Given the description of an element on the screen output the (x, y) to click on. 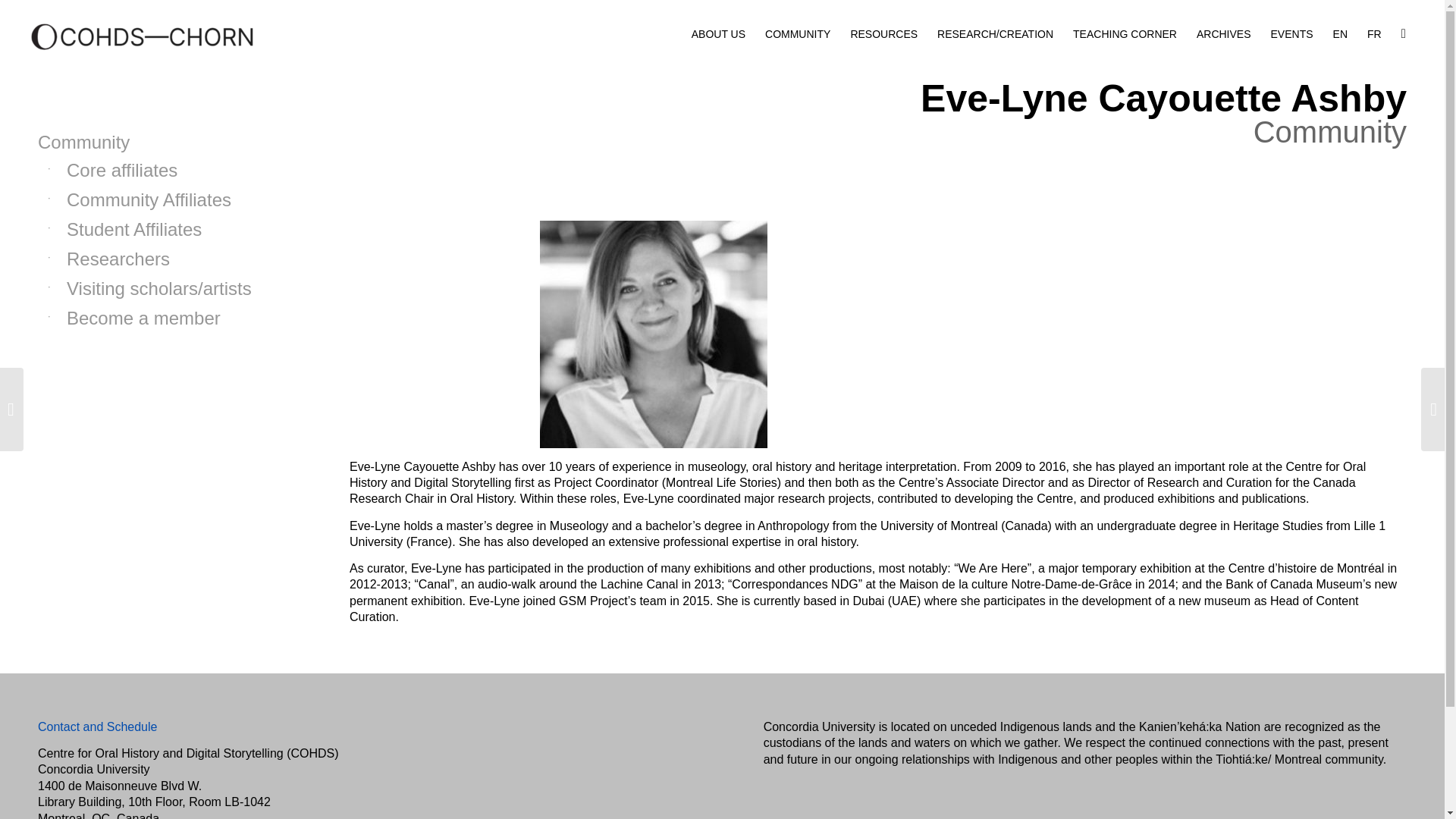
Become a member (166, 318)
Permanent Link: Eve-Lyne Cayouette Ashby (1163, 97)
TEACHING CORNER (1124, 33)
Core affiliates (166, 170)
RESOURCES (883, 33)
Eve-Lyne Cayouette Ashby (1163, 97)
ABOUT US (718, 33)
EVENTS (1291, 33)
COMMUNITY (797, 33)
Community (156, 142)
